Given the description of an element on the screen output the (x, y) to click on. 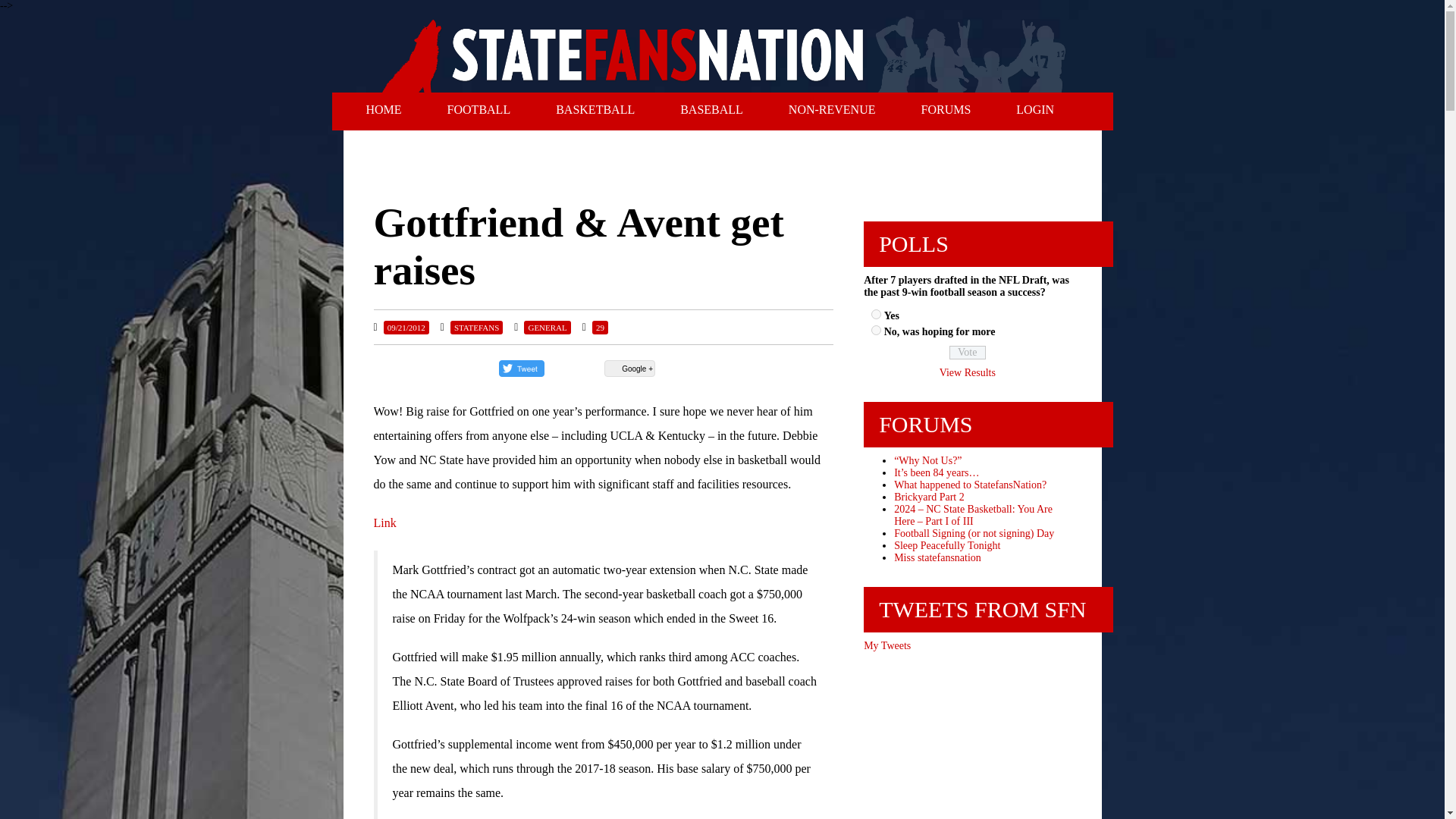
HOME (382, 109)
GENERAL (547, 327)
StateFans Nation (722, 52)
29 (600, 327)
   Vote    (967, 352)
LOGIN (1034, 109)
View all posts by StateFans (475, 327)
833 (875, 329)
FORUMS (945, 109)
STATEFANS (475, 327)
BASEBALL (711, 109)
NON-REVENUE (831, 109)
Link (384, 522)
FOOTBALL (479, 109)
832 (875, 314)
